Given the description of an element on the screen output the (x, y) to click on. 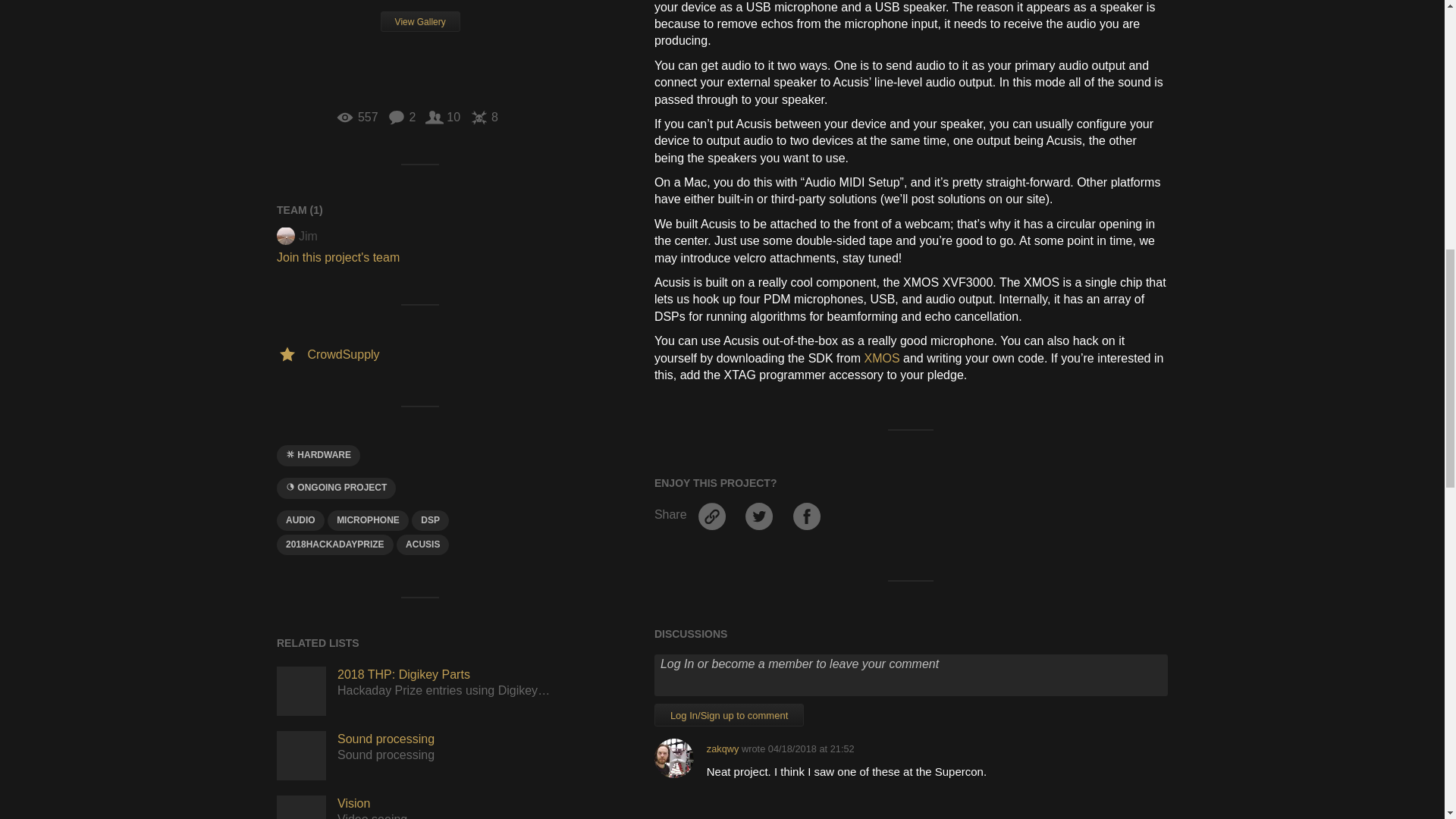
Vision (301, 807)
View Count (356, 116)
6 years ago (811, 748)
Comments (400, 116)
2018 THP: Digikey Parts (301, 690)
Sound processing (301, 755)
Followers (442, 116)
Likes (483, 116)
